Given the description of an element on the screen output the (x, y) to click on. 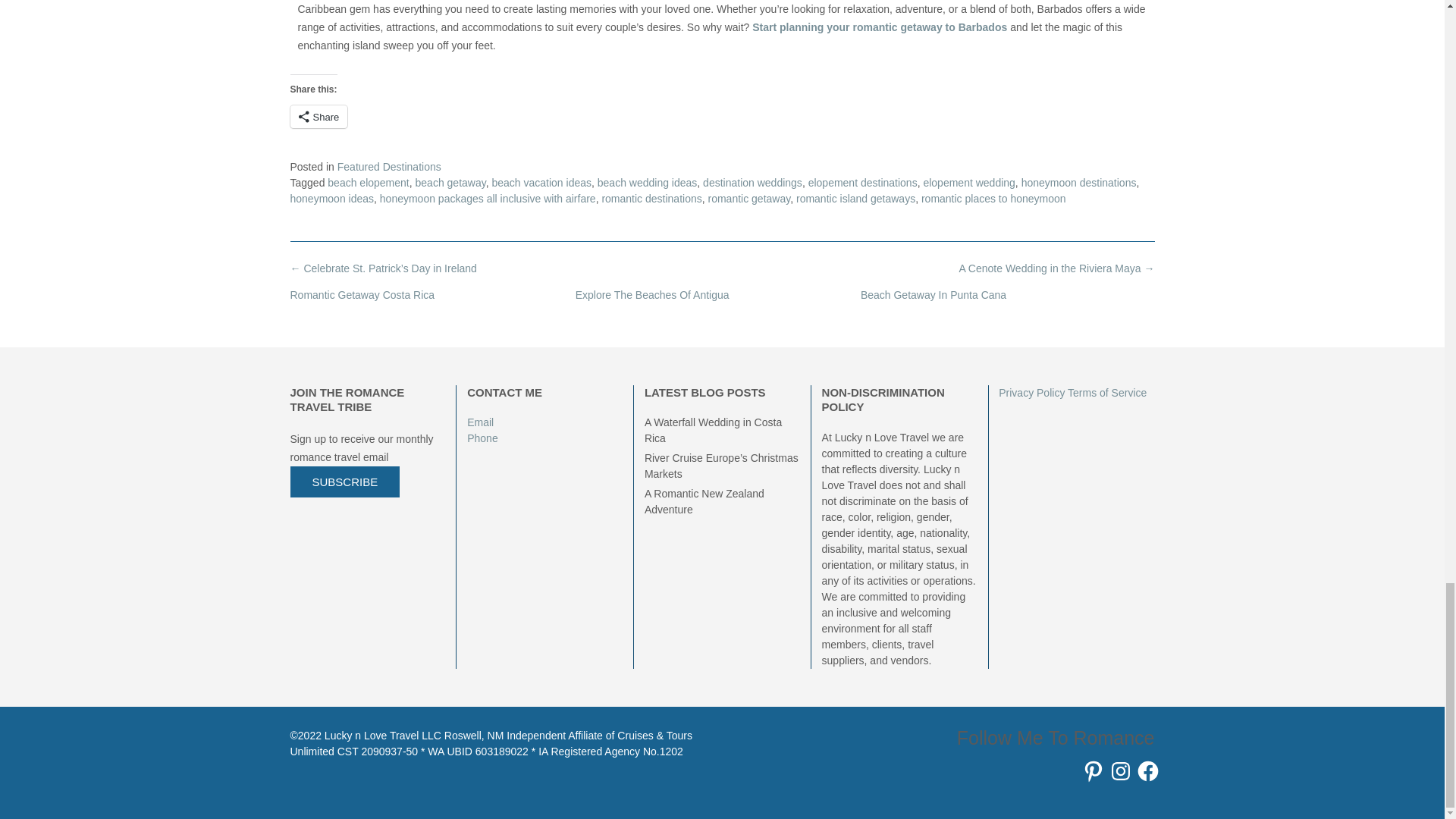
Phone (482, 438)
SUBSCRIBE (343, 481)
beach vacation ideas (541, 182)
Beach Getaway In Punta Cana (933, 295)
romantic getaway (748, 198)
Explore The Beaches Of Antigua (652, 295)
beach wedding ideas (646, 182)
Romantic Getaway Costa Rica (361, 295)
destination weddings (752, 182)
Romantic Getaway Costa Rica (361, 295)
SUBSCRIBE (343, 481)
Email (481, 422)
Start planning your romantic getaway to Barbados (881, 27)
romantic destinations (651, 198)
Explore The Beaches Of Antigua (652, 295)
